Given the description of an element on the screen output the (x, y) to click on. 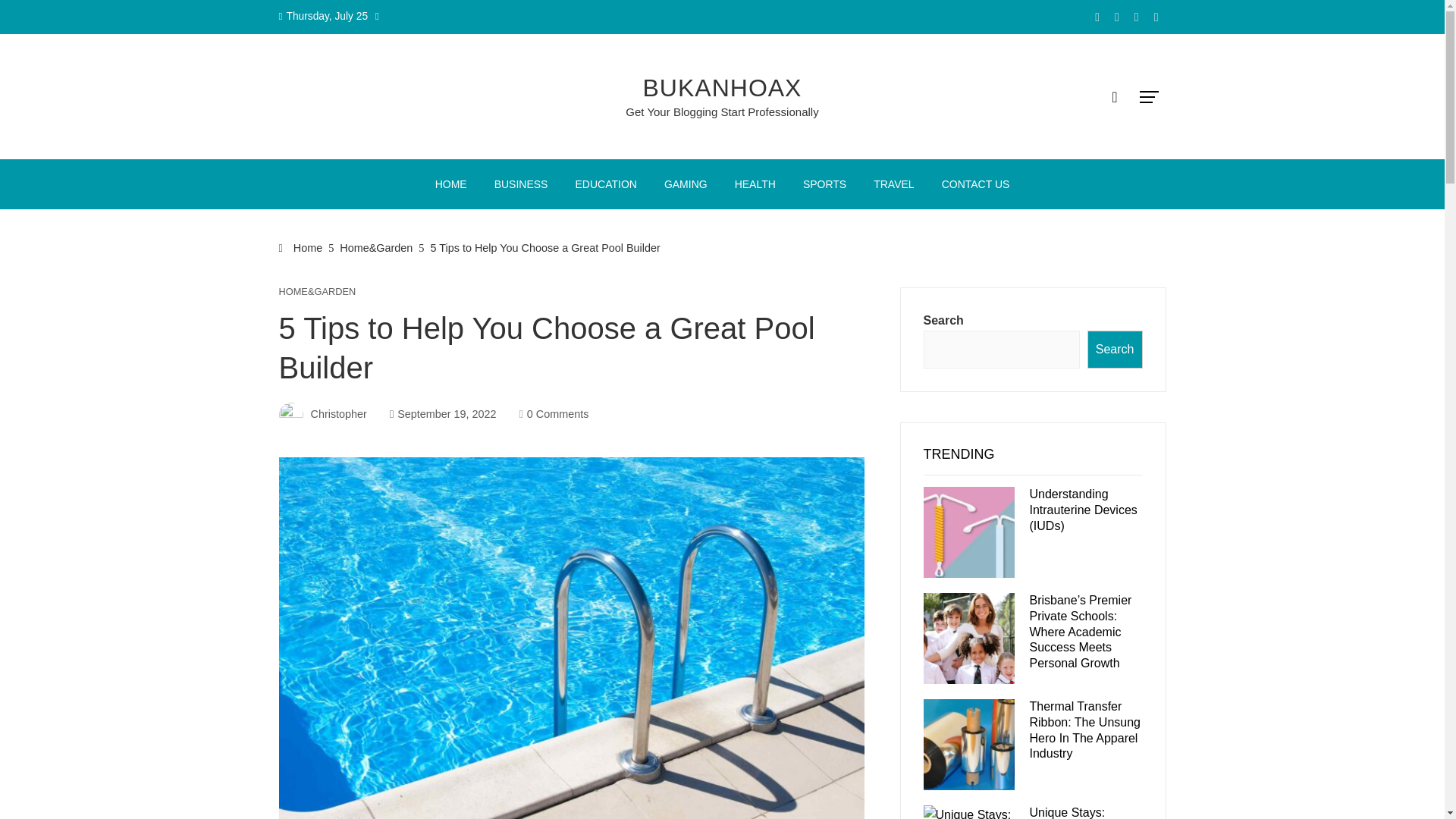
HEALTH (755, 183)
Home (301, 247)
BUKANHOAX (722, 87)
SPORTS (824, 183)
GAMING (685, 183)
TRAVEL (892, 183)
BUSINESS (521, 183)
CONTACT US (976, 183)
Get Your Blogging Start Professionally (722, 111)
EDUCATION (605, 183)
HOME (451, 183)
